Given the description of an element on the screen output the (x, y) to click on. 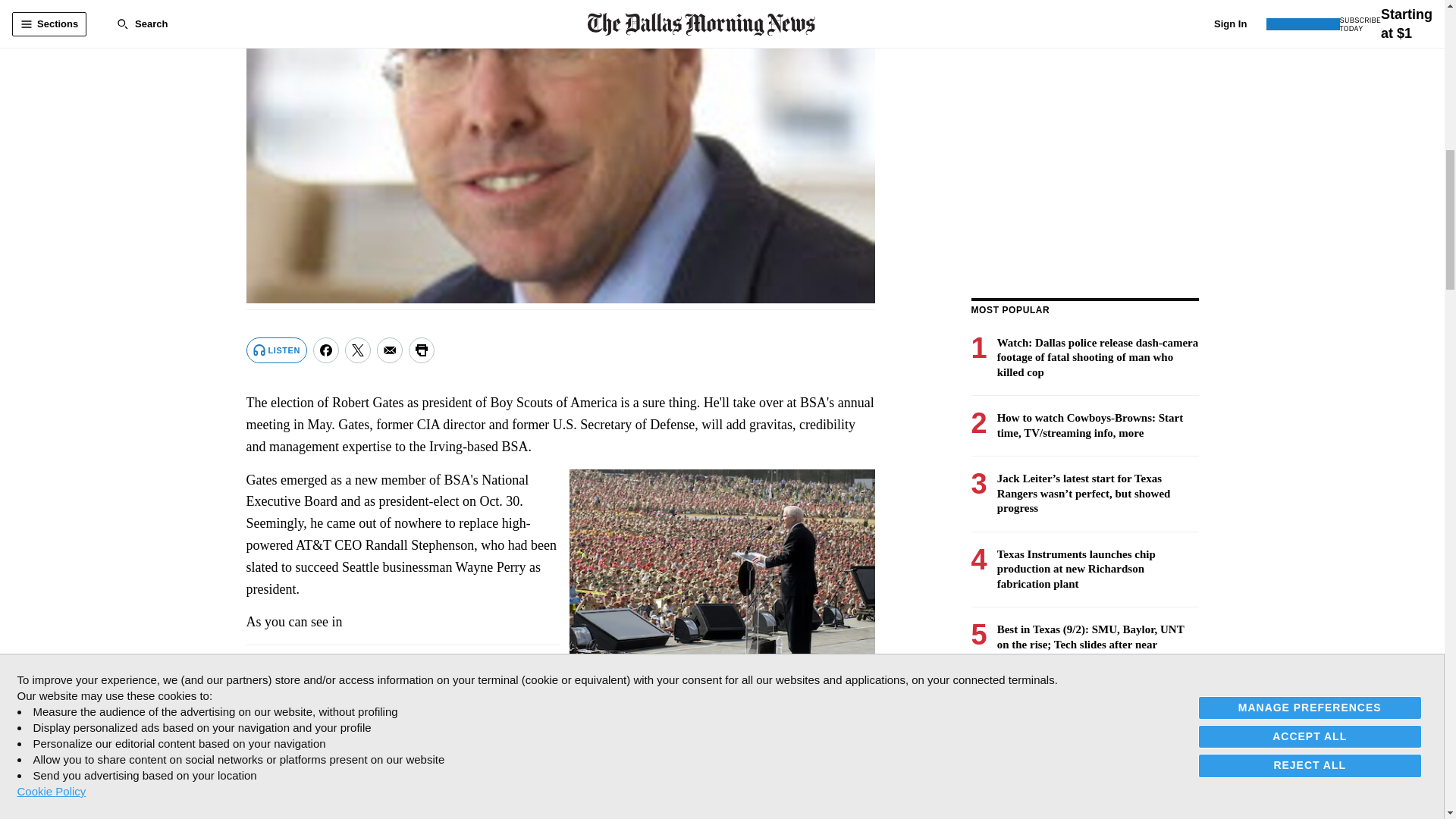
Share on Twitter (358, 350)
Print (421, 350)
Share via Email (390, 350)
Share on Facebook (326, 350)
